Given the description of an element on the screen output the (x, y) to click on. 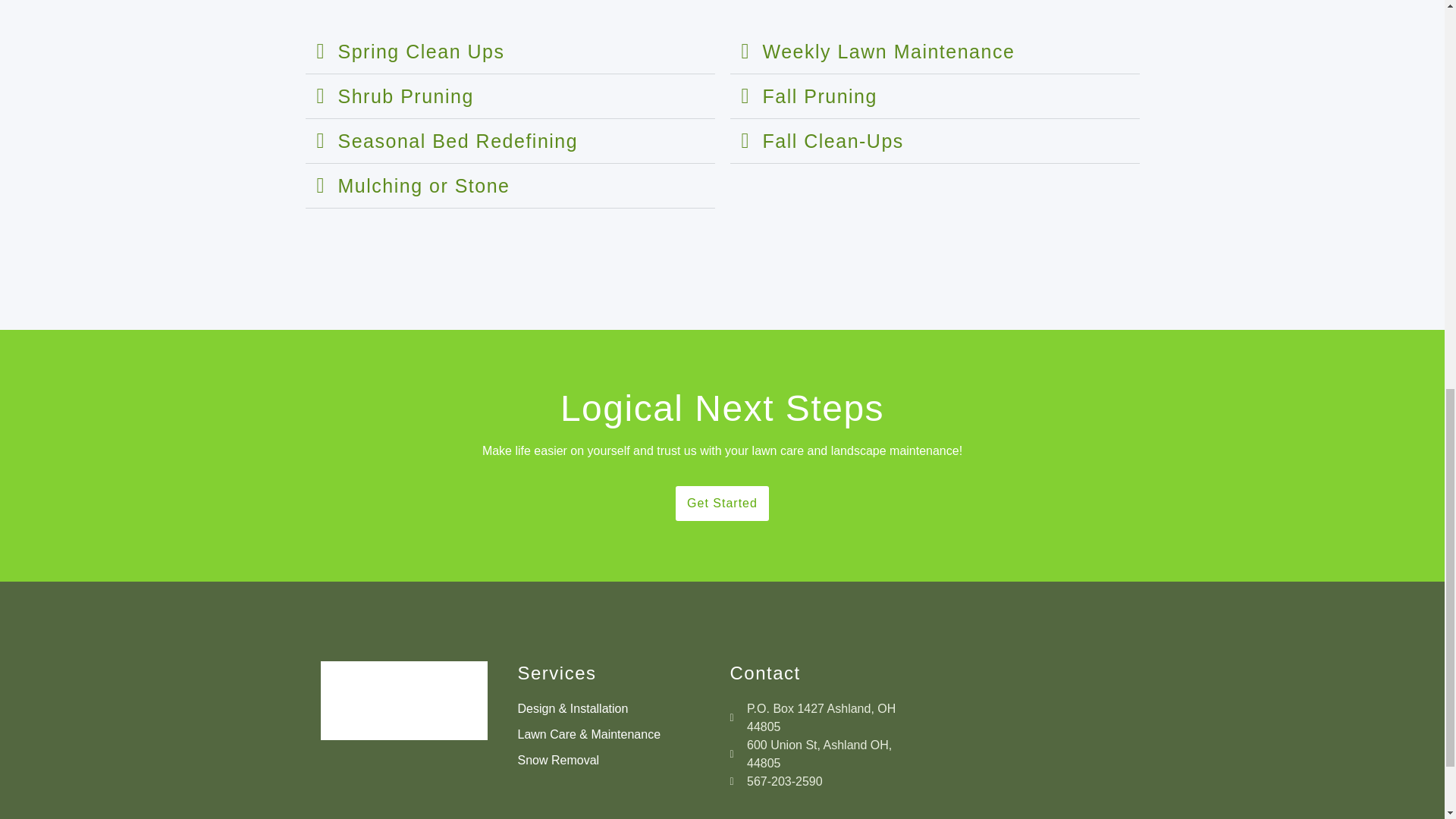
Mulching or Stone (424, 185)
Spring Clean Ups (421, 51)
Get Started (721, 503)
Snow Removal (615, 760)
567-203-2590 (827, 782)
Fall Pruning (819, 96)
Shrub Pruning (405, 96)
Fall Clean-Ups (833, 140)
Weekly Lawn Maintenance (888, 51)
Seasonal Bed Redefining (457, 140)
